Given the description of an element on the screen output the (x, y) to click on. 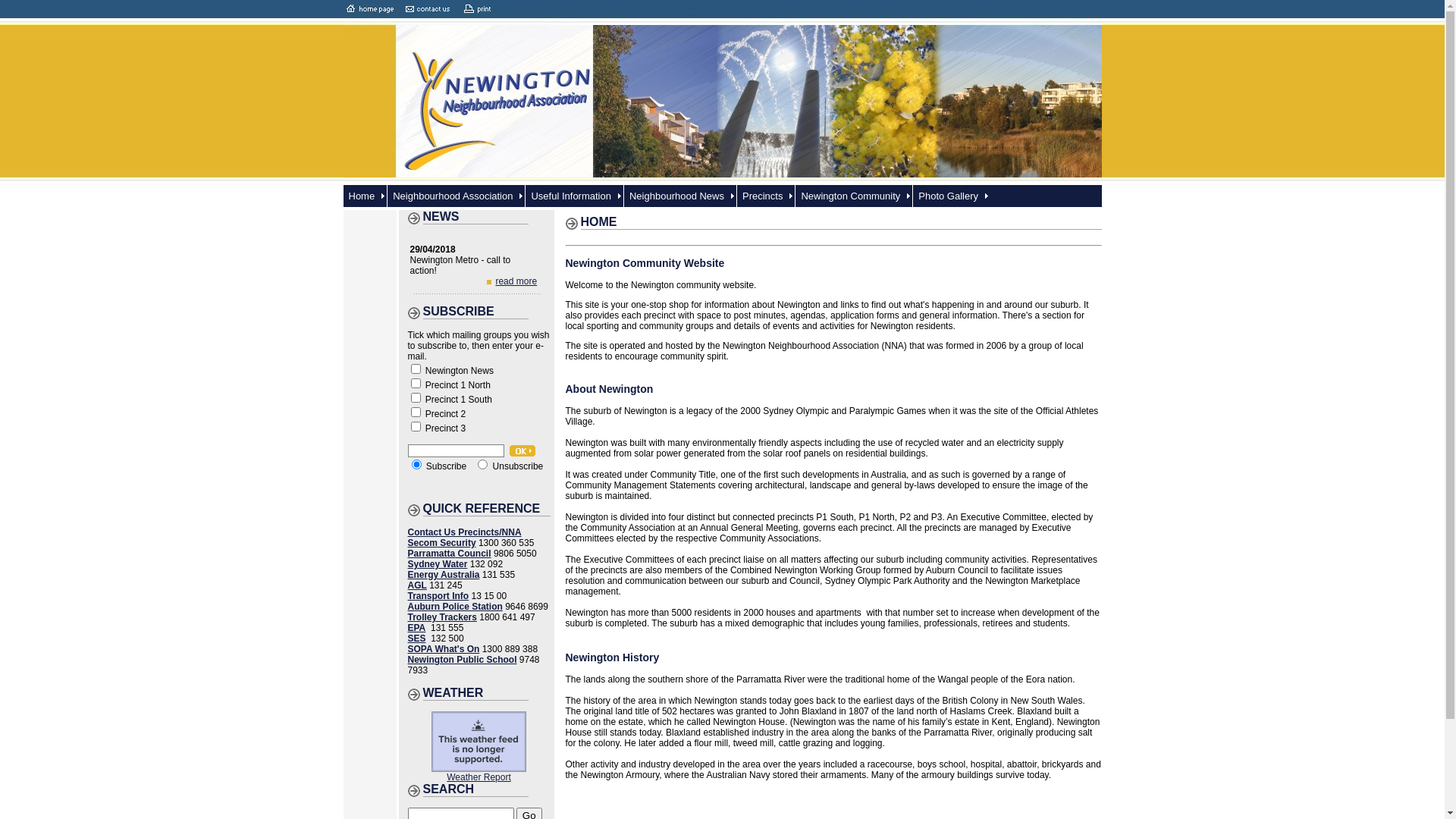
AGL Element type: text (461, 590)
Energy Australia Element type: text (455, 579)
Useful Information Element type: text (570, 195)
Sydney Water Element type: text (471, 569)
NEWS Element type: text (441, 216)
HOME Element type: text (598, 221)
EPA Element type: text (471, 632)
Print this page Element type: hover (487, 8)
SOPA What's On Element type: text (443, 654)
Home Element type: text (361, 195)
Newington Public School Element type: text (462, 659)
Parramatta Council Element type: text (470, 558)
Neighbourhood Association Element type: text (452, 195)
Transport Info Element type: text (438, 600)
Precincts Element type: text (762, 195)
read more Element type: text (515, 281)
Neighbourhood News Element type: text (676, 195)
Secom Security Element type: text (441, 542)
Photo Gallery Element type: text (948, 195)
Auburn Police Station Element type: text (457, 611)
Newington Community Element type: text (850, 195)
SES Element type: text (435, 643)
Trolley Trackers Element type: text (477, 622)
Weather Report Element type: text (478, 776)
Contact Us Precincts/NNA Element type: text (464, 532)
